Given the description of an element on the screen output the (x, y) to click on. 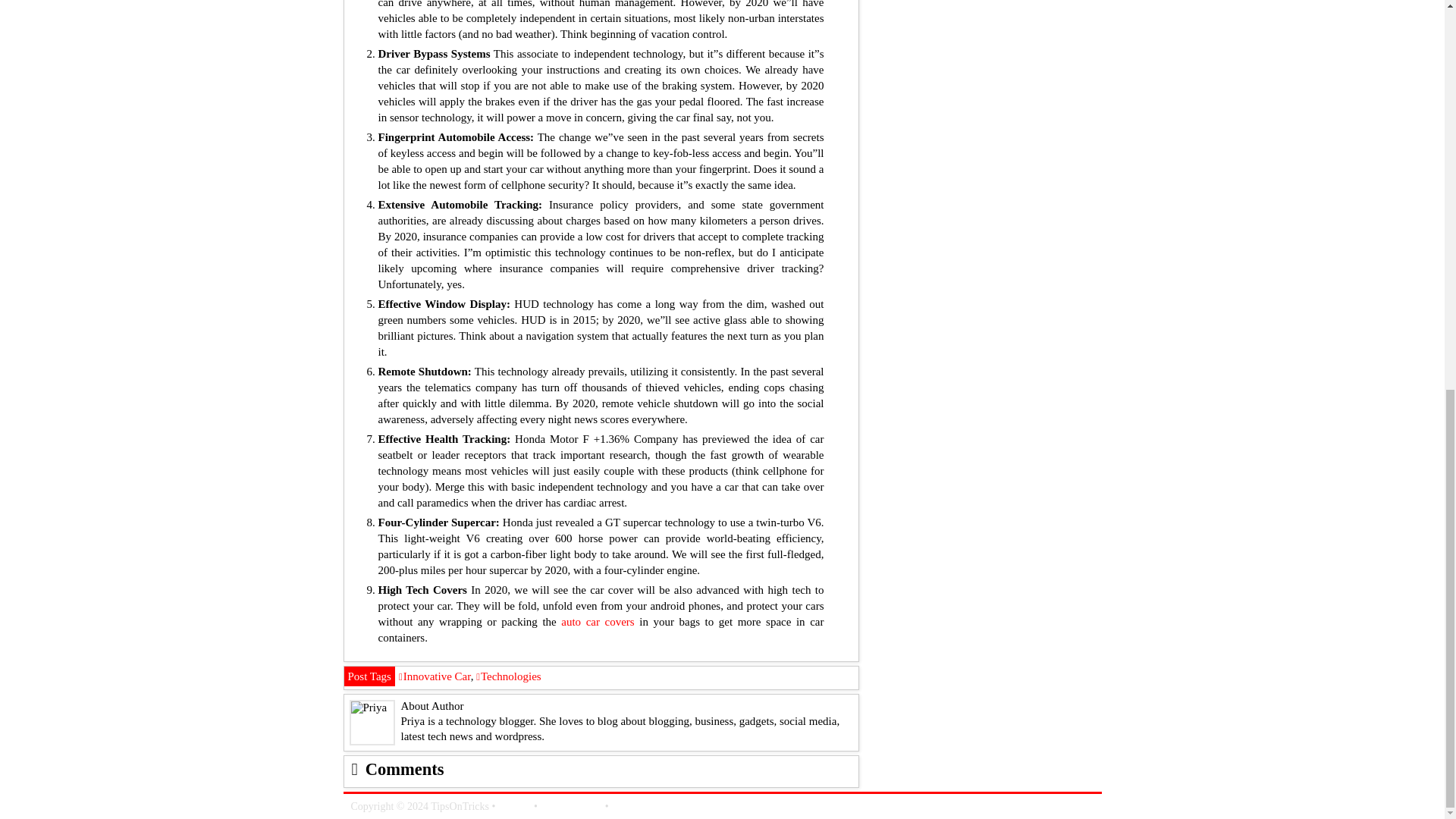
Technologies (508, 676)
auto car covers (596, 621)
Disclaimer (634, 806)
Contact (514, 806)
Privacy Policy (571, 806)
Innovative Car (434, 676)
